Given the description of an element on the screen output the (x, y) to click on. 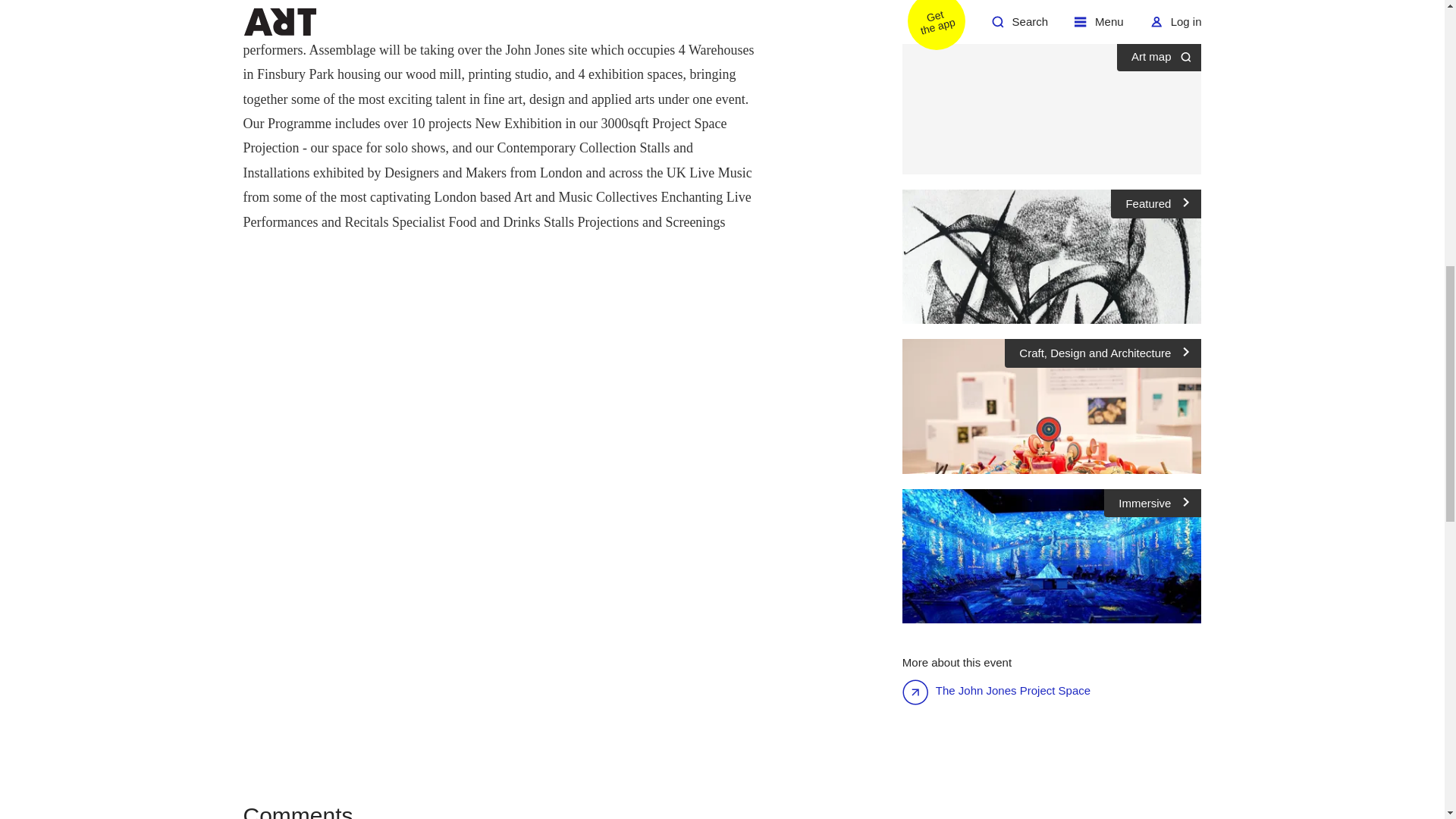
what's popular (1111, 18)
opening soon (1052, 108)
321 current events (1015, 18)
